Given the description of an element on the screen output the (x, y) to click on. 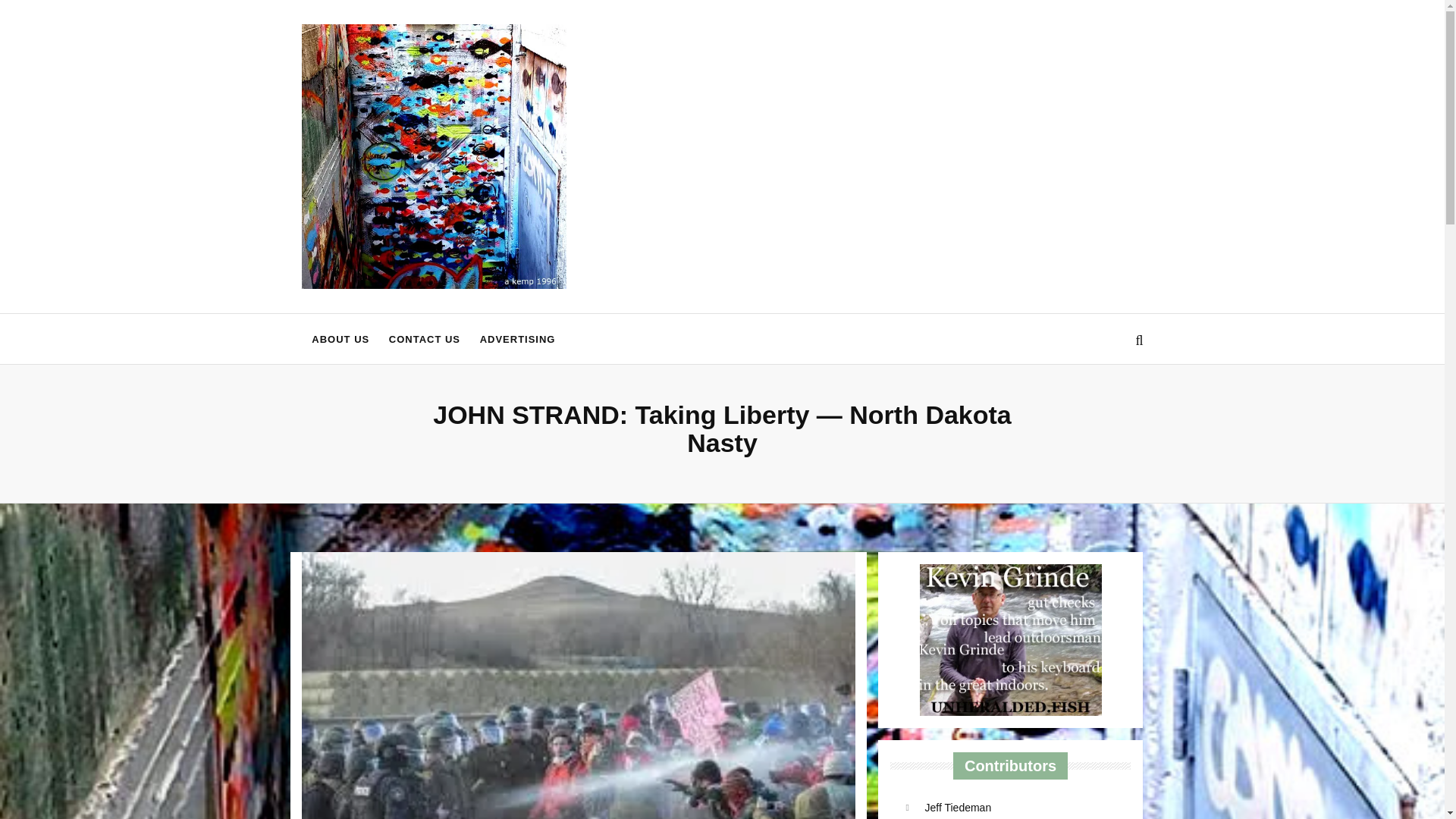
Advertising (517, 338)
CONTACT US (424, 338)
About us (339, 338)
ADVERTISING (517, 338)
ABOUT US (339, 338)
Contact us (424, 338)
